Given the description of an element on the screen output the (x, y) to click on. 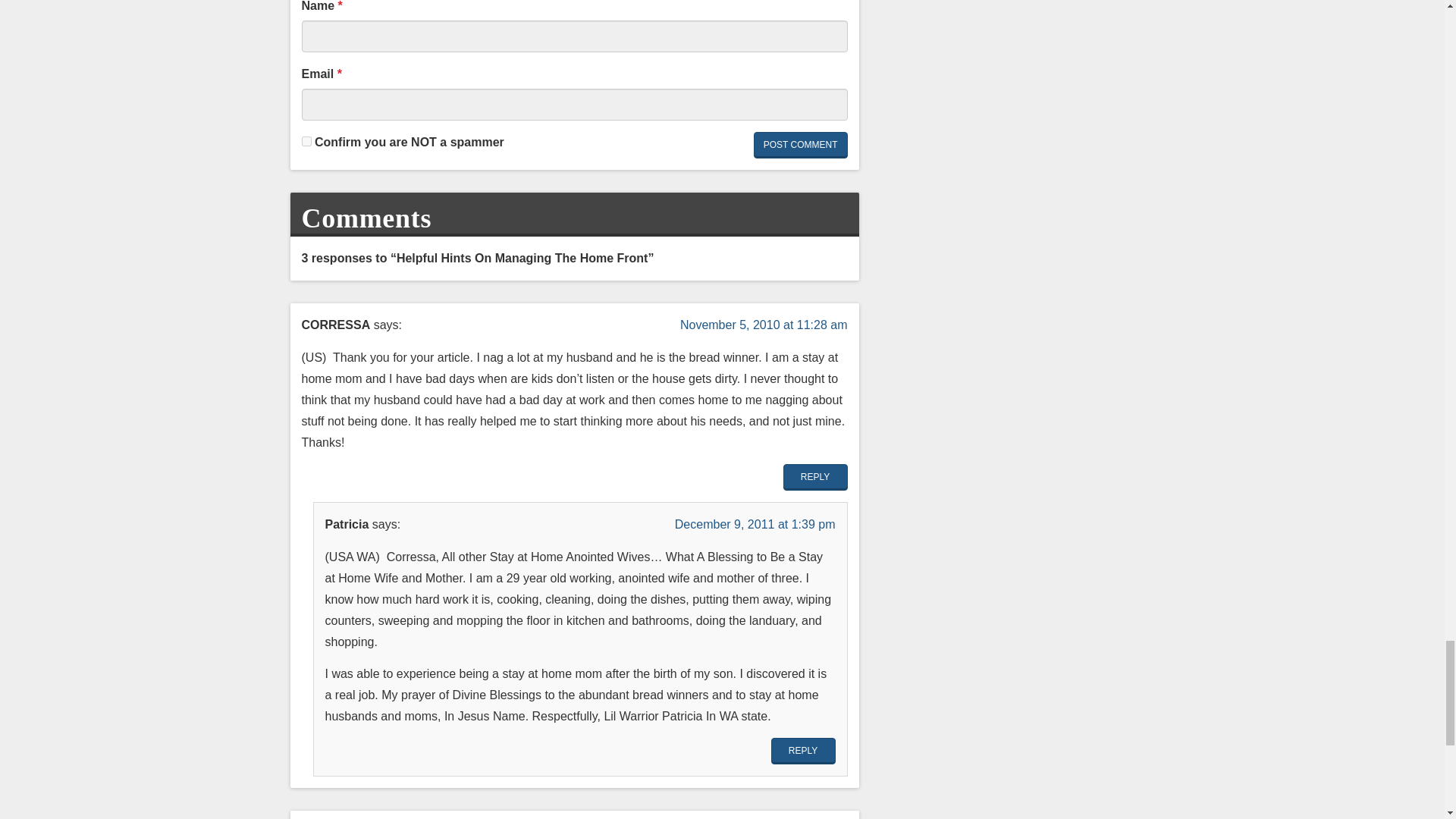
on (306, 141)
Post Comment (800, 144)
